Given the description of an element on the screen output the (x, y) to click on. 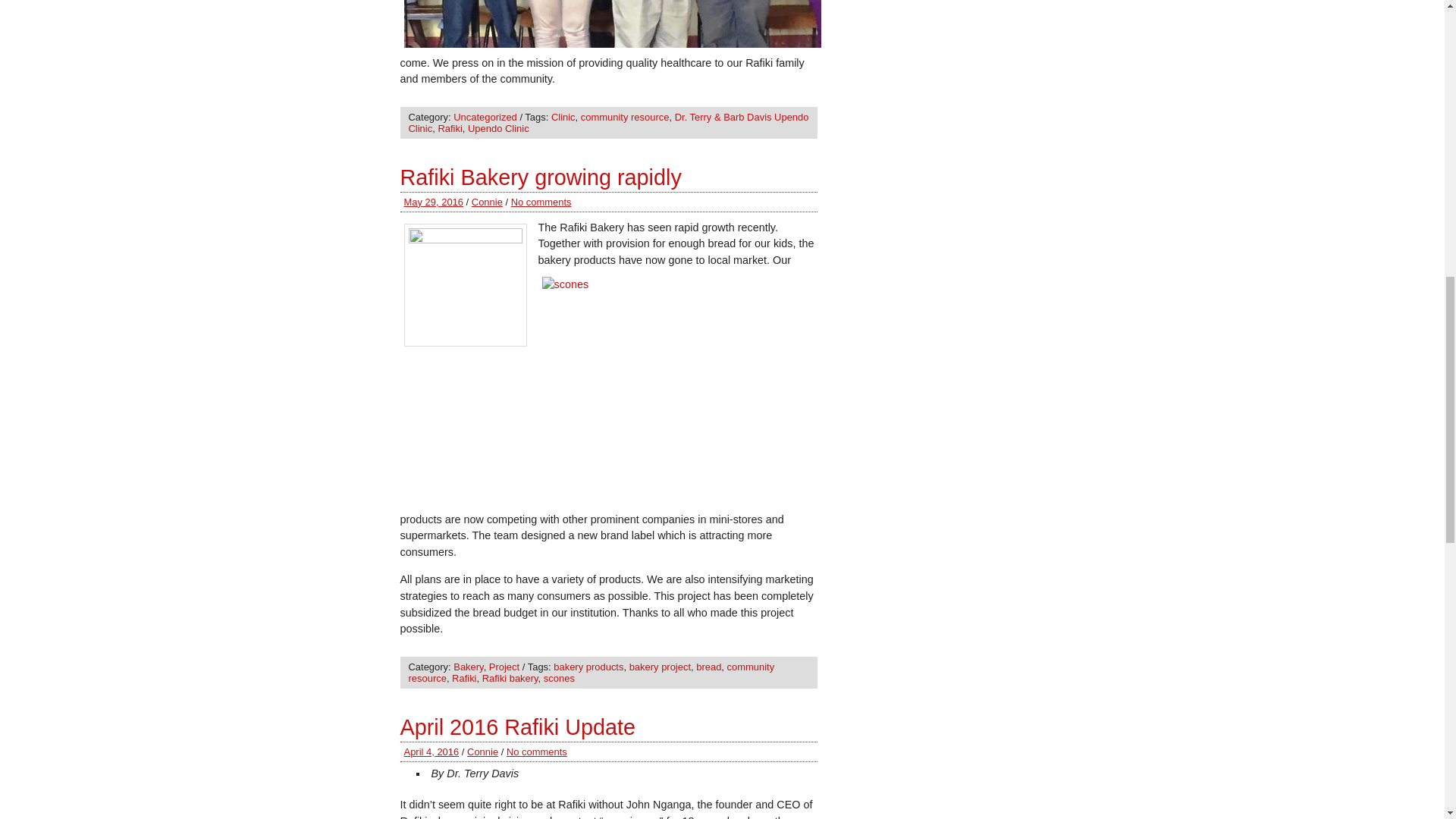
Posts by Connie (482, 751)
Posts by Connie (486, 202)
